Given the description of an element on the screen output the (x, y) to click on. 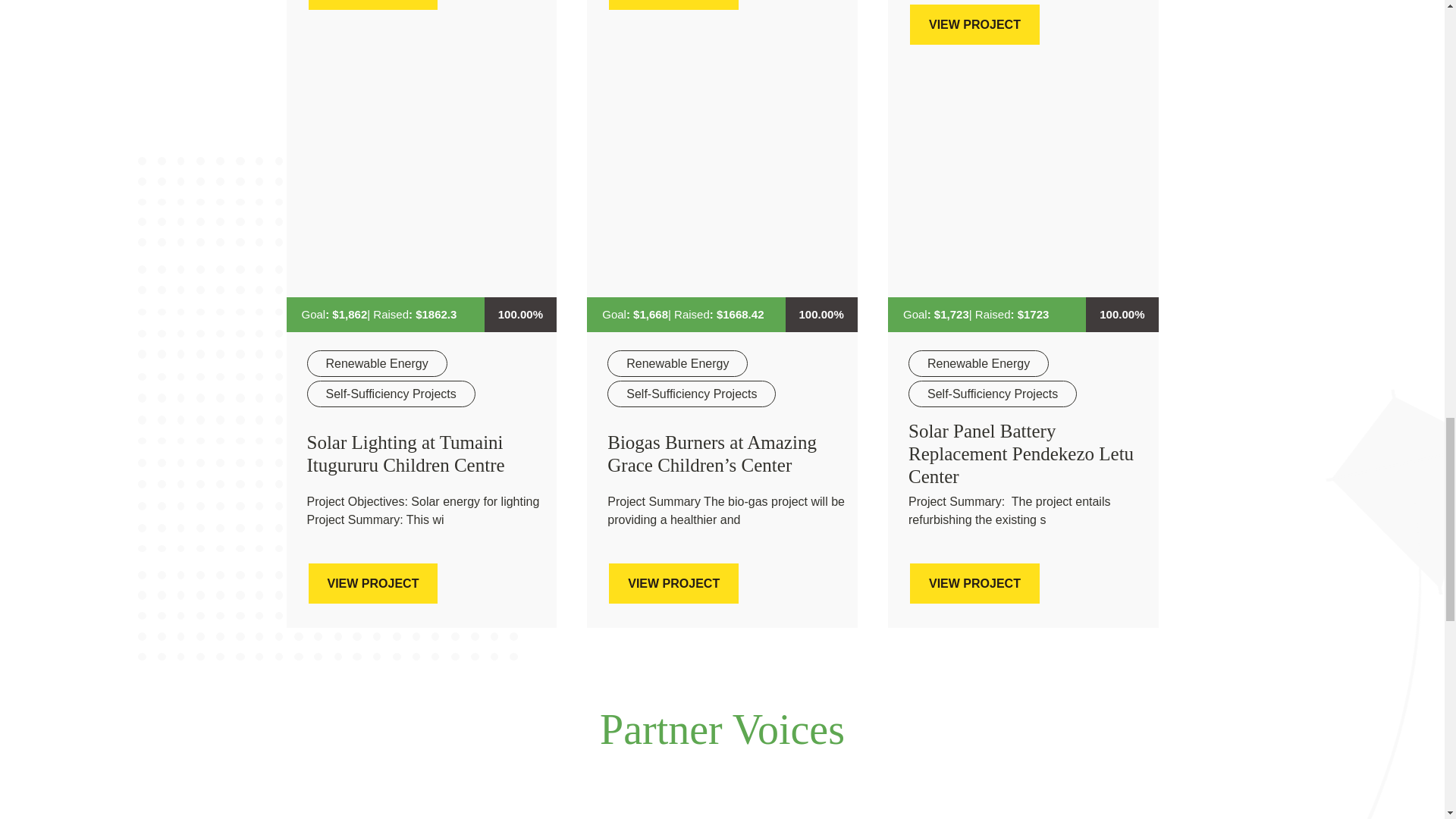
VIEW PROJECT (673, 4)
VIEW PROJECT (974, 24)
VIEW PROJECT (372, 4)
